Given the description of an element on the screen output the (x, y) to click on. 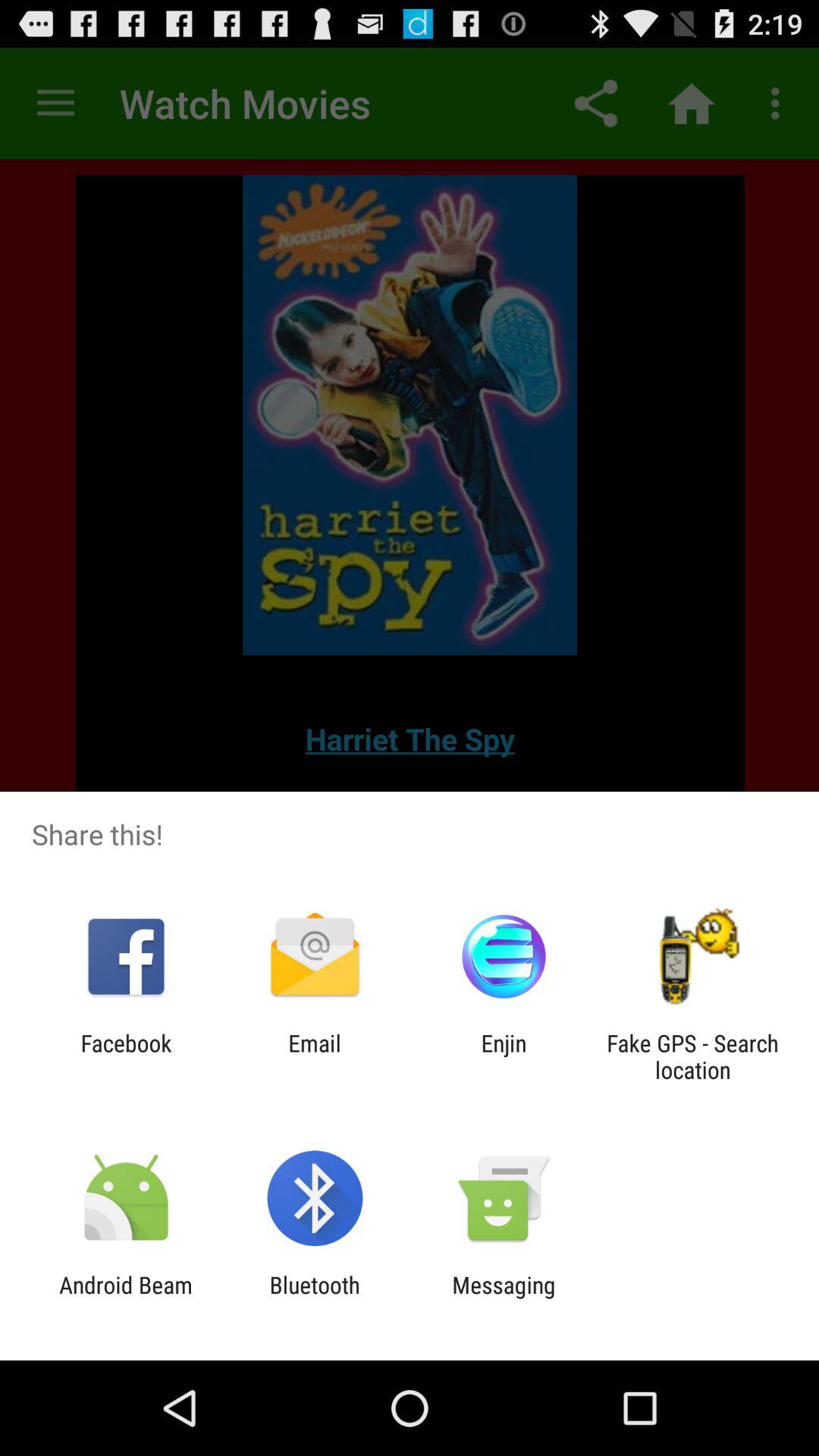
swipe until the enjin app (503, 1056)
